Given the description of an element on the screen output the (x, y) to click on. 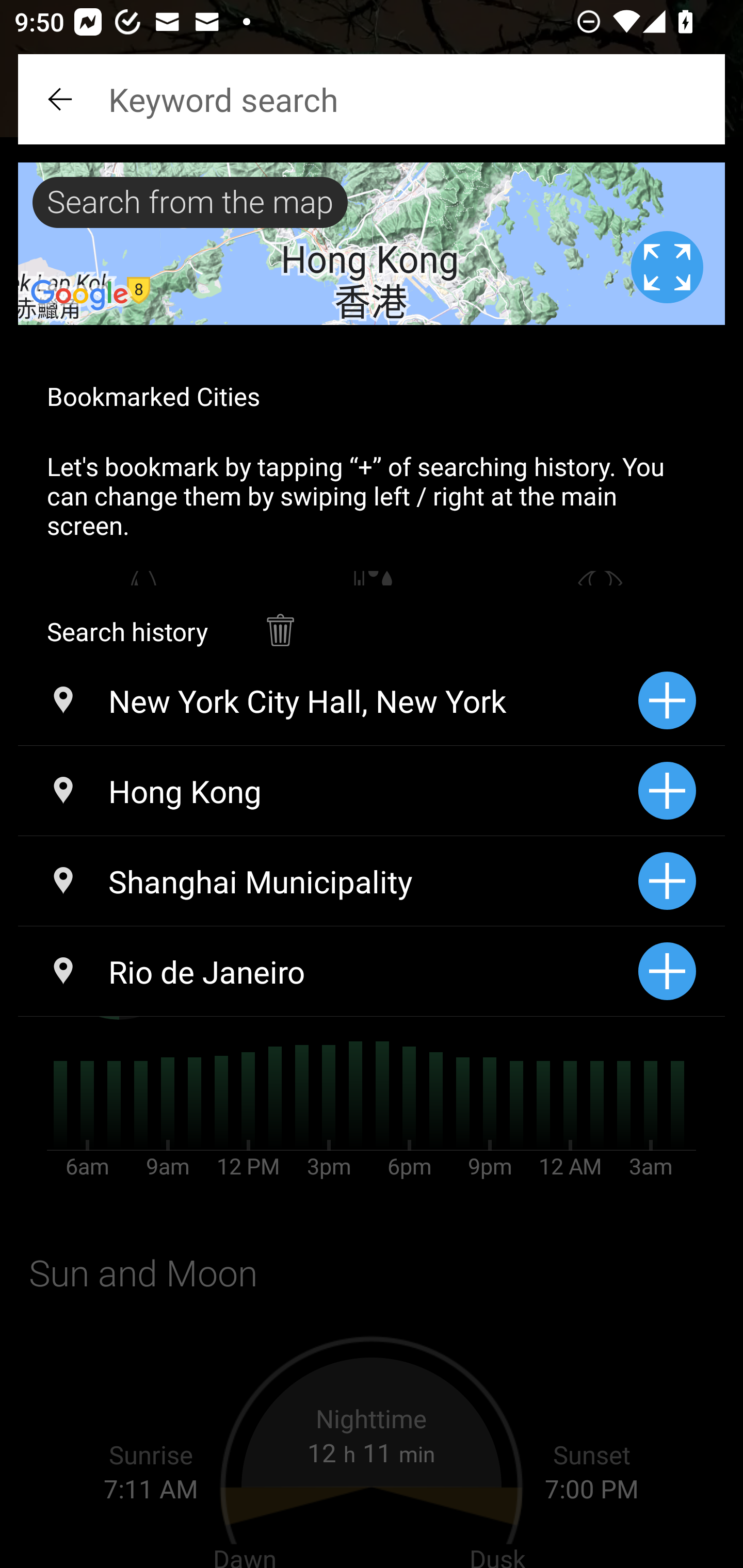
Keyword search (371, 99)
 (61, 99)
 (280, 619)
 New York City Hall, New York (327, 700)
 Hong Kong (327, 790)
 Shanghai Municipality (327, 880)
 Rio de Janeiro (327, 971)
